Given the description of an element on the screen output the (x, y) to click on. 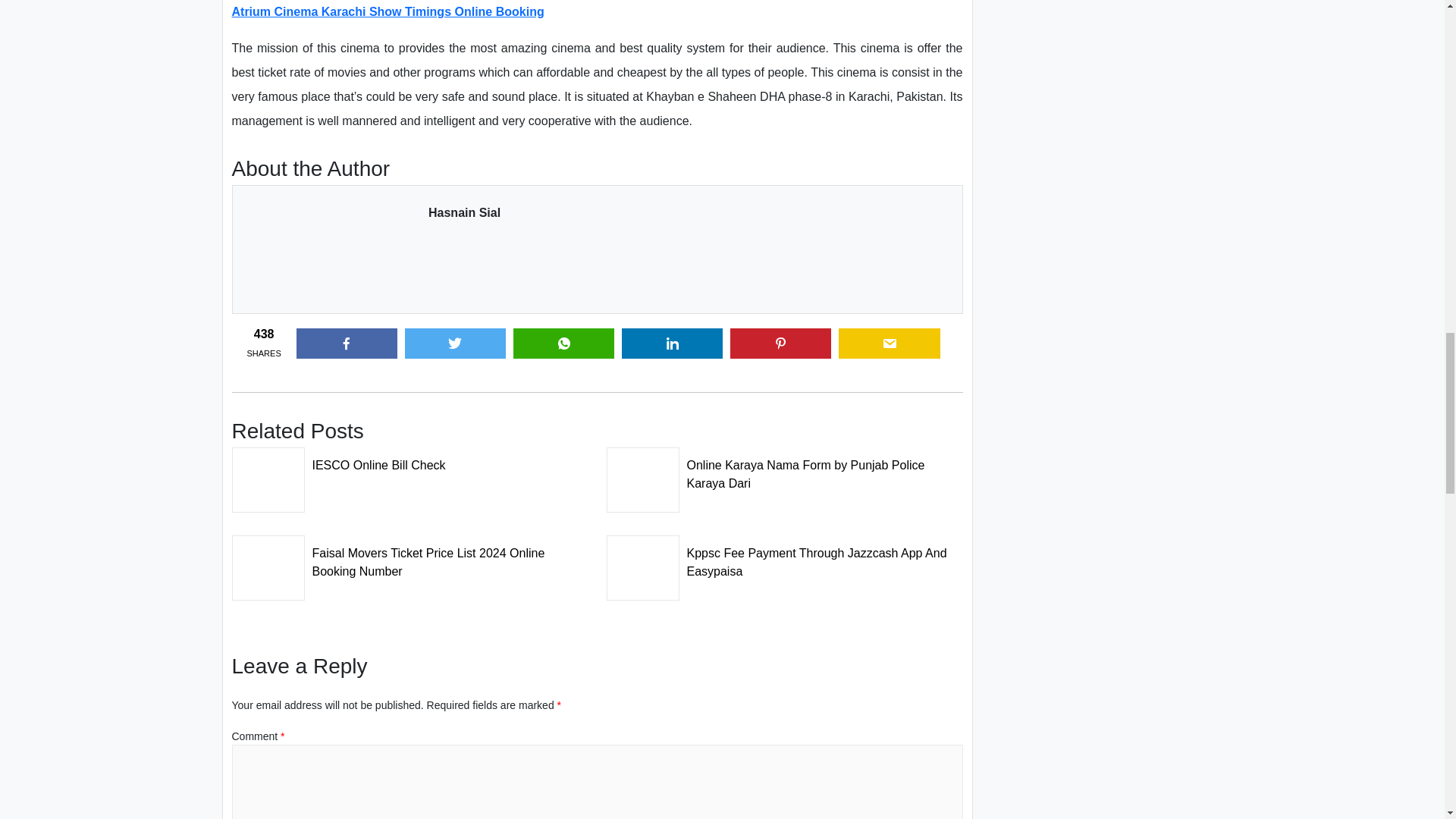
Faisal Movers Ticket Price List 2024 Online Booking Number (409, 557)
Online Karaya Nama Form by Punjab Police Karaya Dari (784, 470)
Atrium Cinema Karachi Show Timings Online Booking (387, 10)
Kppsc Fee Payment Through Jazzcash App And Easypaisa (784, 557)
IESCO Online Bill Check (409, 461)
